Given the description of an element on the screen output the (x, y) to click on. 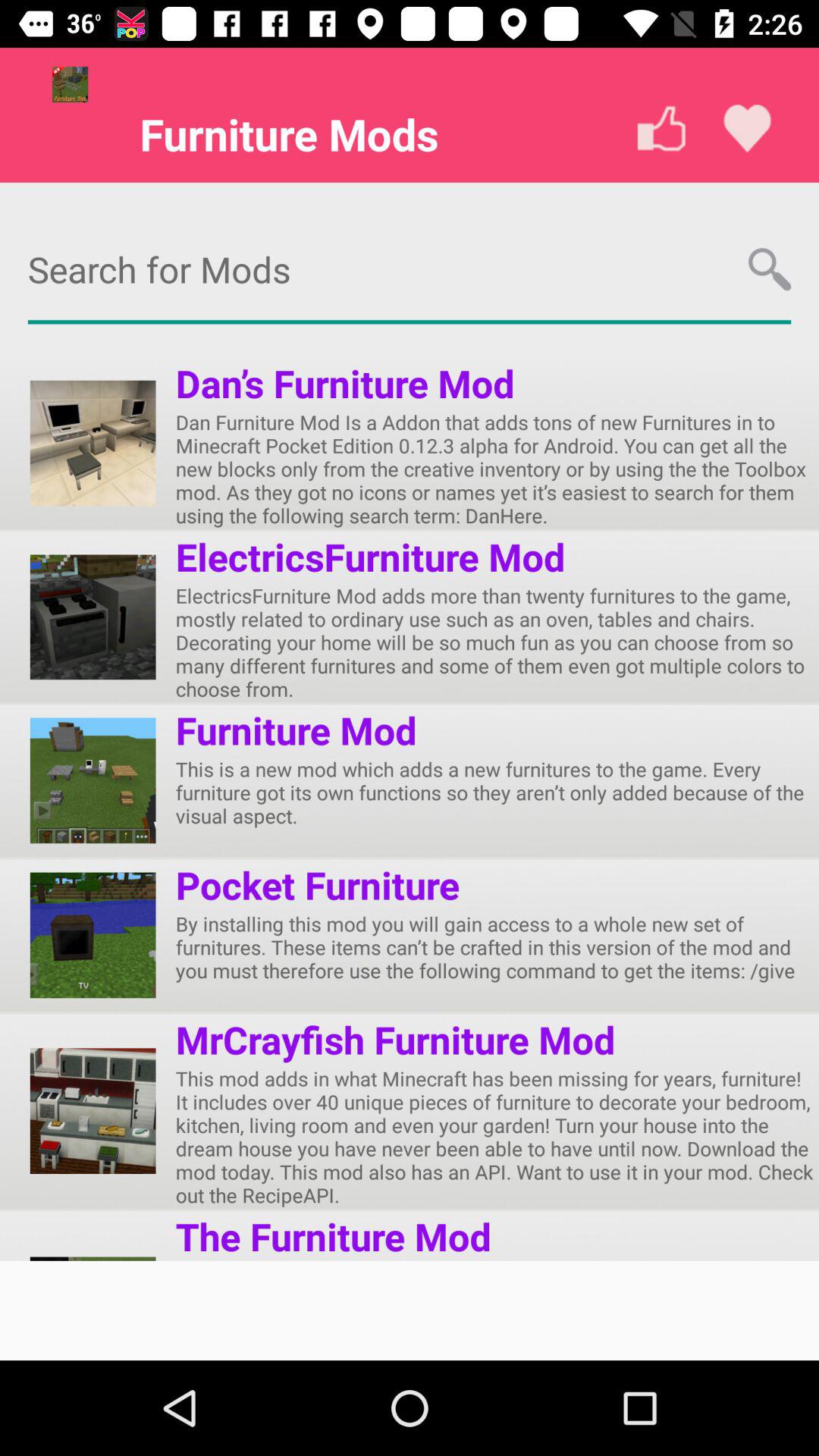
launch item above the this mod adds app (395, 1039)
